Given the description of an element on the screen output the (x, y) to click on. 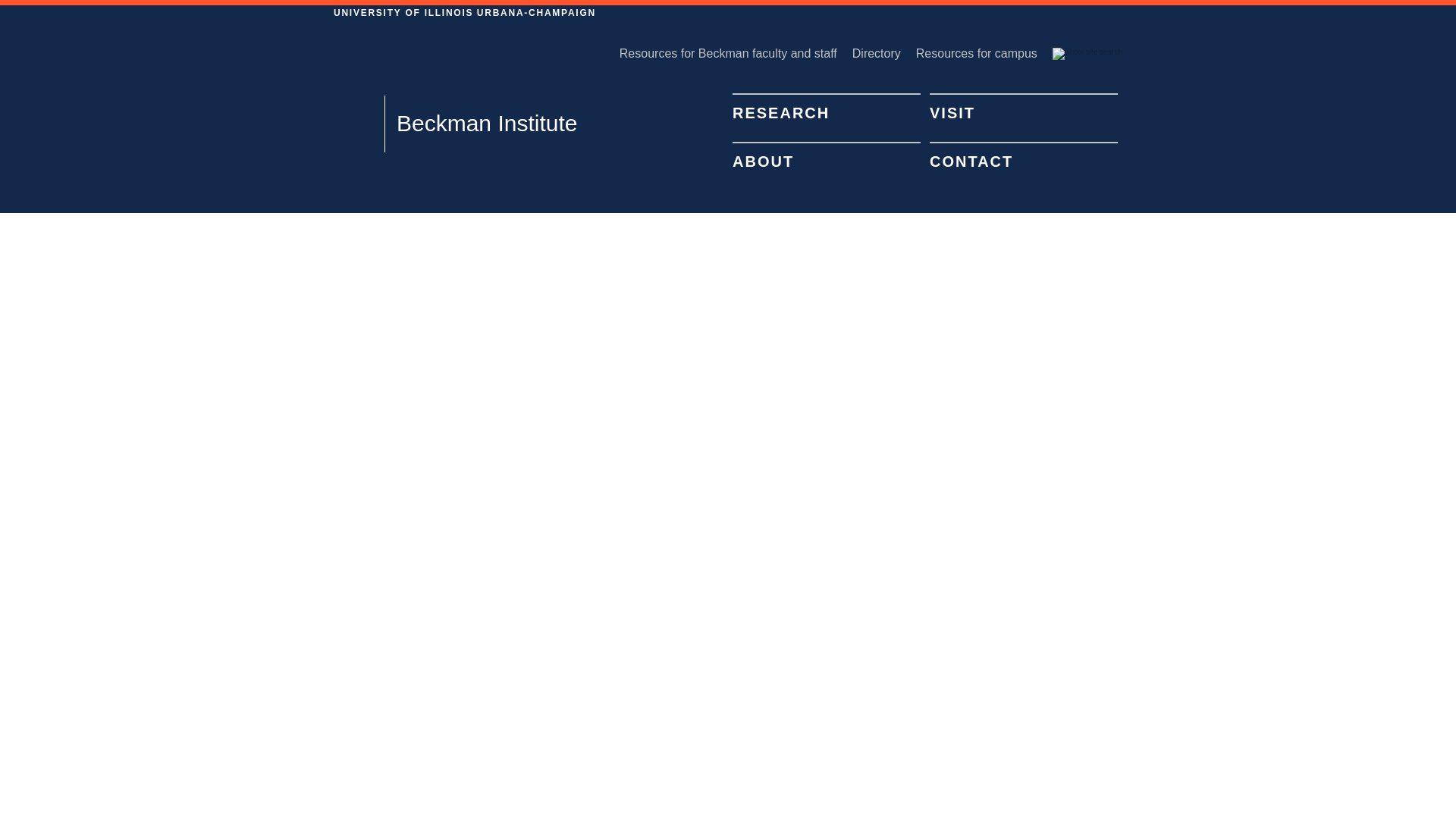
Resources for Beckman faculty and staff (735, 54)
Directory (883, 54)
Resources for campus (983, 54)
Beckman Institute (480, 123)
